Given the description of an element on the screen output the (x, y) to click on. 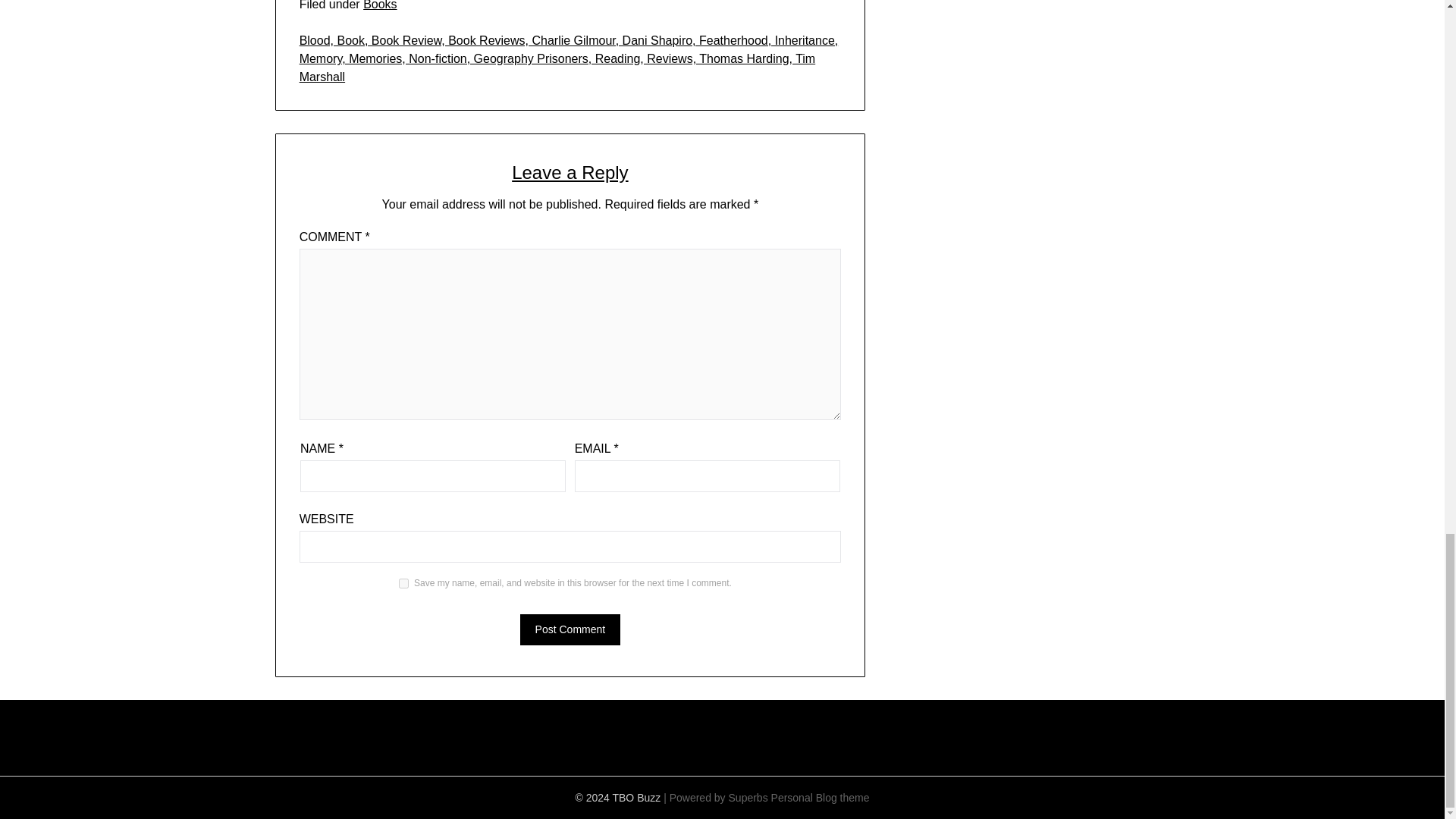
yes (403, 583)
Post Comment (570, 629)
Books (379, 5)
Leave a Reply (569, 172)
Post Comment (570, 629)
